Given the description of an element on the screen output the (x, y) to click on. 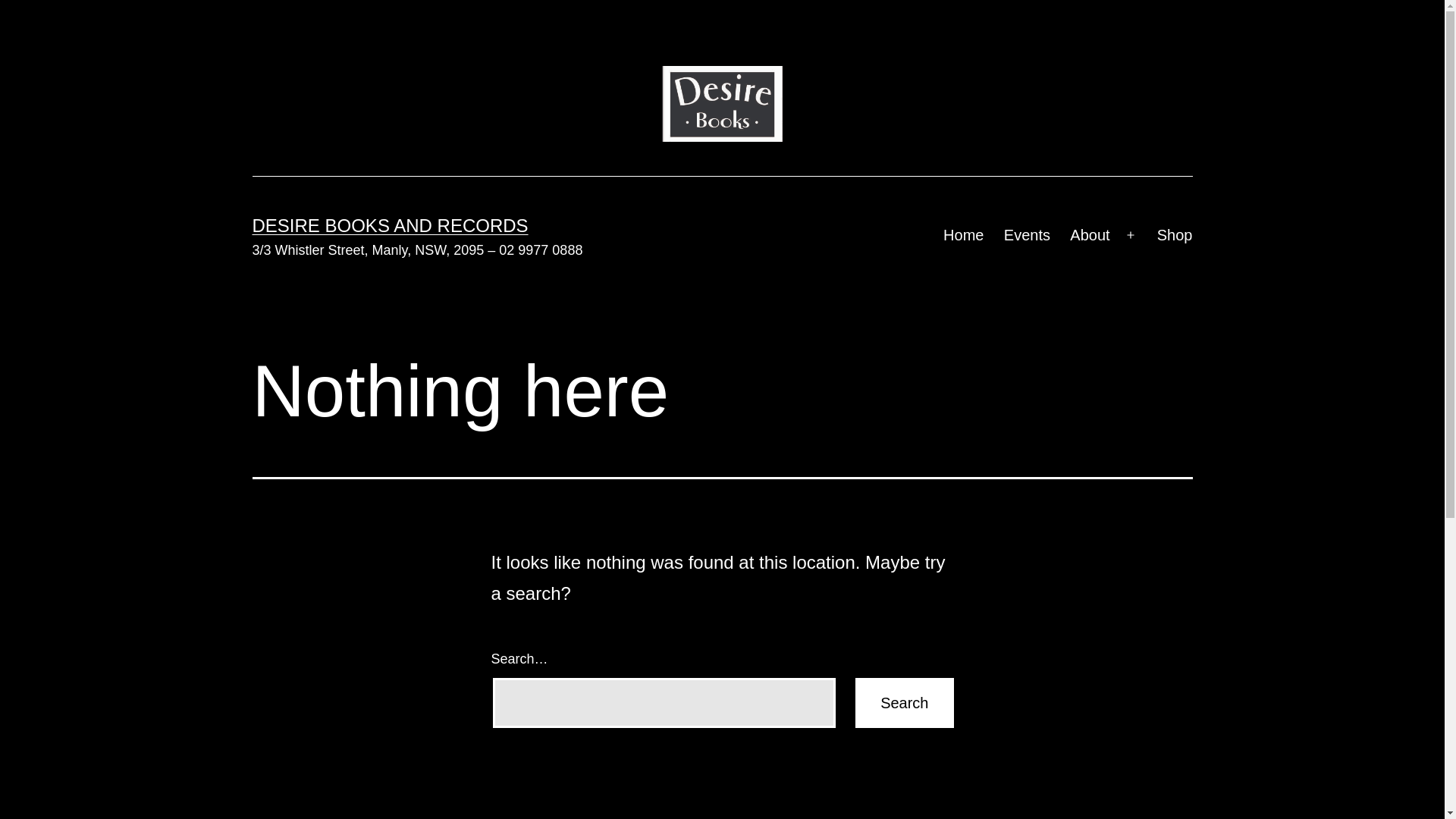
Search Element type: text (904, 702)
About Element type: text (1090, 235)
Shop Element type: text (1174, 235)
Open menu Element type: text (1130, 235)
Home Element type: text (963, 235)
DESIRE BOOKS AND RECORDS Element type: text (389, 225)
Events Element type: text (1027, 235)
